Given the description of an element on the screen output the (x, y) to click on. 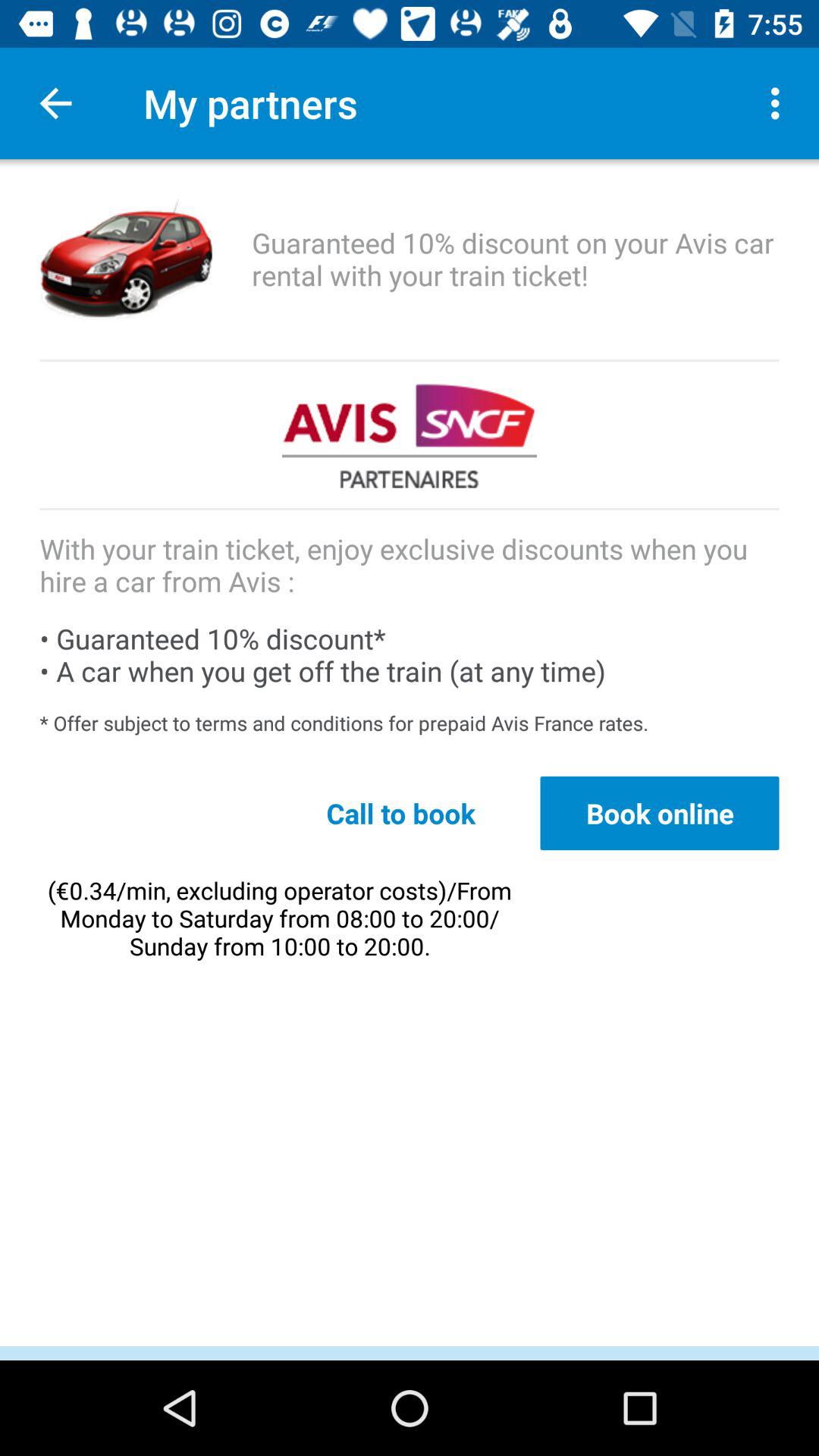
select book online item (659, 813)
